Given the description of an element on the screen output the (x, y) to click on. 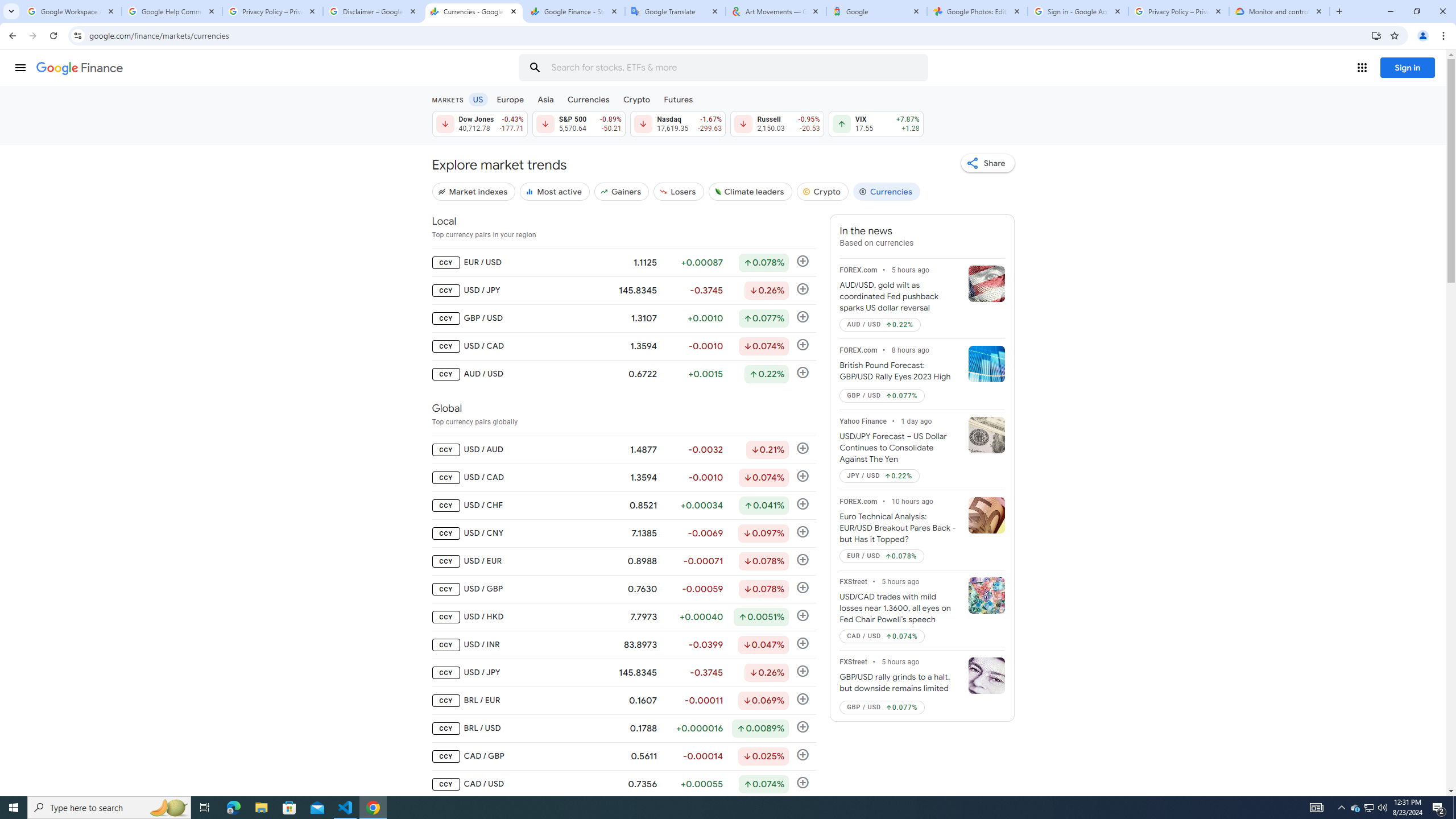
Market indexes (472, 191)
GLeaf logo (717, 191)
Currencies (588, 99)
CCY BRL / EUR 0.1607 -0.00011 Down by 0.069% Follow (623, 700)
Install Google Finance (1376, 35)
CCY USD / JPY 145.8345 -0.3745 Down by 0.26% Follow (623, 672)
Google Translate (675, 11)
Crypto (636, 99)
Gainers (621, 191)
